Given the description of an element on the screen output the (x, y) to click on. 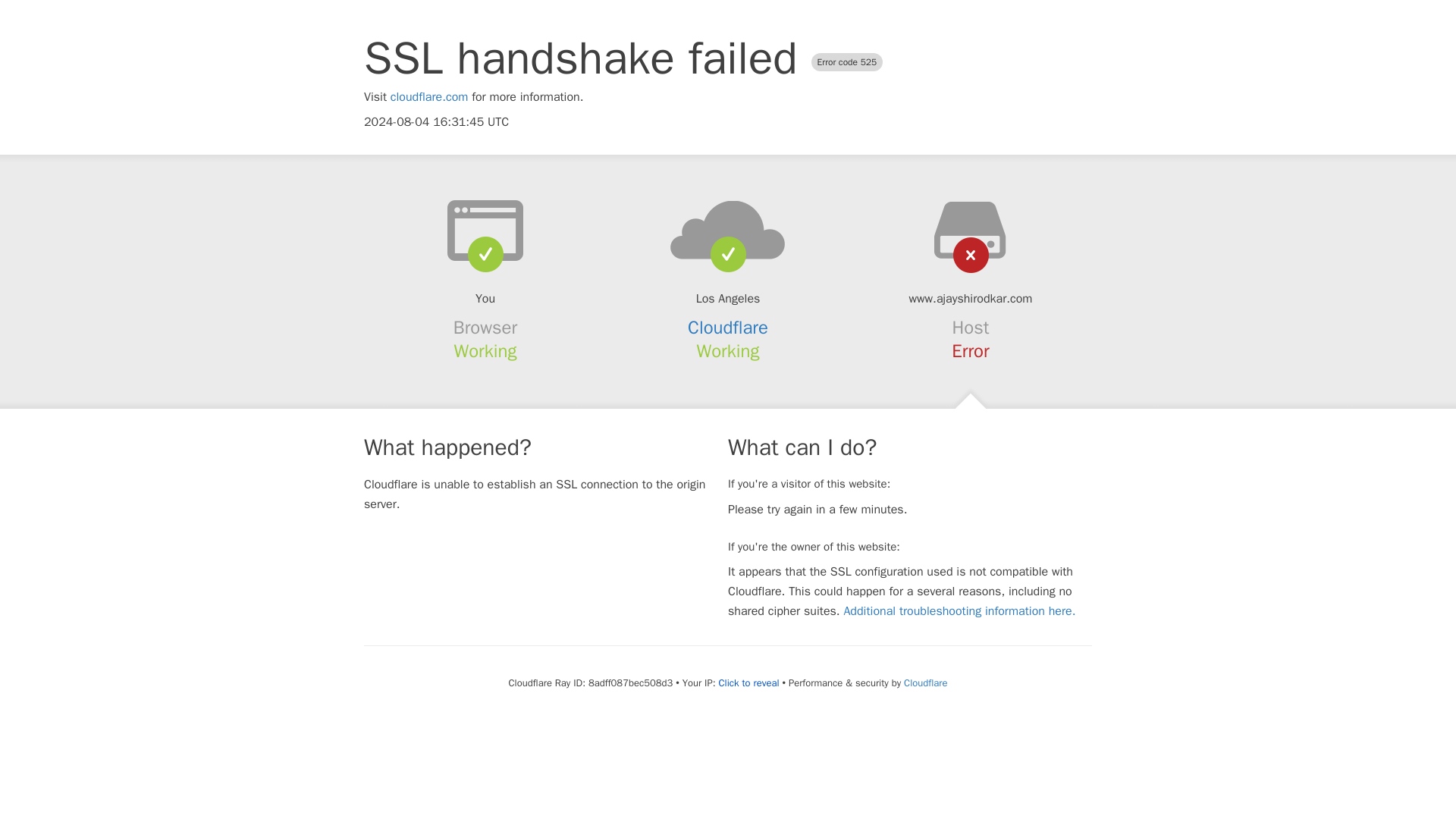
cloudflare.com (429, 96)
Click to reveal (748, 683)
Cloudflare (727, 327)
Cloudflare (925, 682)
Additional troubleshooting information here. (959, 611)
